Given the description of an element on the screen output the (x, y) to click on. 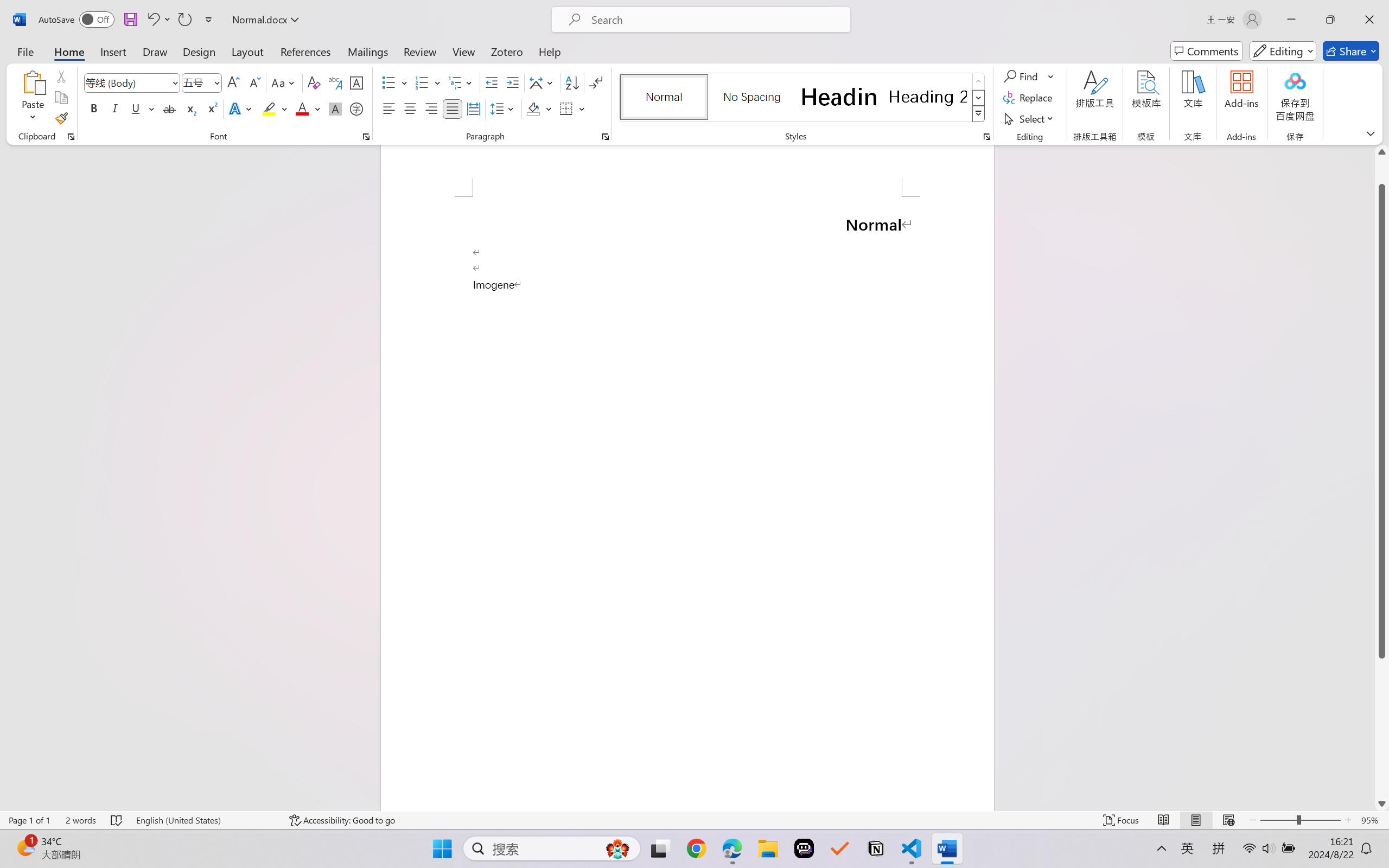
Shading RGB(0, 0, 0) (533, 108)
Asian Layout (542, 82)
Center (409, 108)
Multilevel List (461, 82)
Increase Indent (512, 82)
Mode (1283, 50)
Zoom 95% (1372, 819)
Line up (1382, 151)
